Given the description of an element on the screen output the (x, y) to click on. 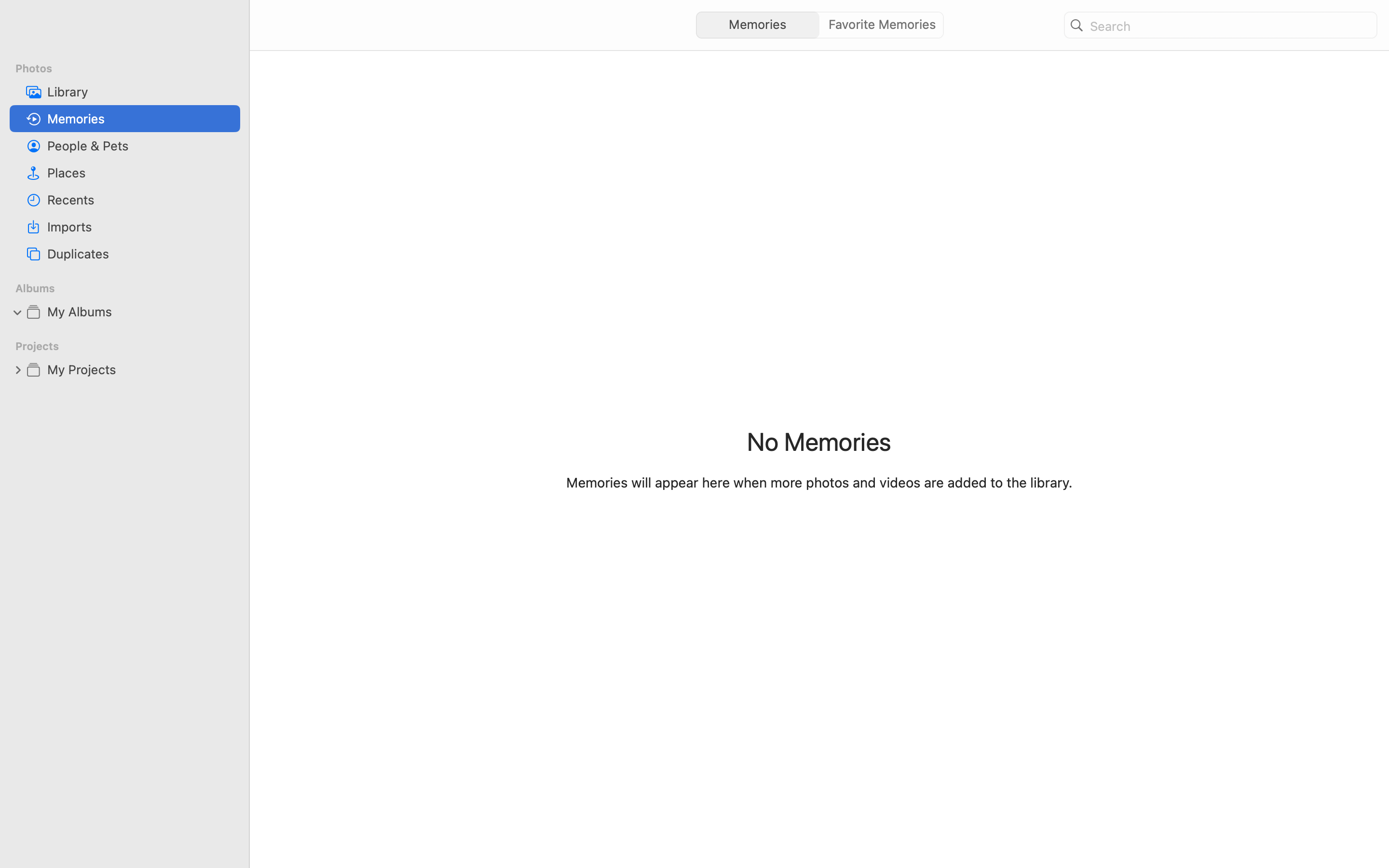
Projects Element type: AXStaticText (130, 345)
Places Element type: AXStaticText (139, 172)
Duplicates Element type: AXStaticText (139, 253)
Library Element type: AXStaticText (139, 91)
My Albums Element type: AXStaticText (139, 311)
